Given the description of an element on the screen output the (x, y) to click on. 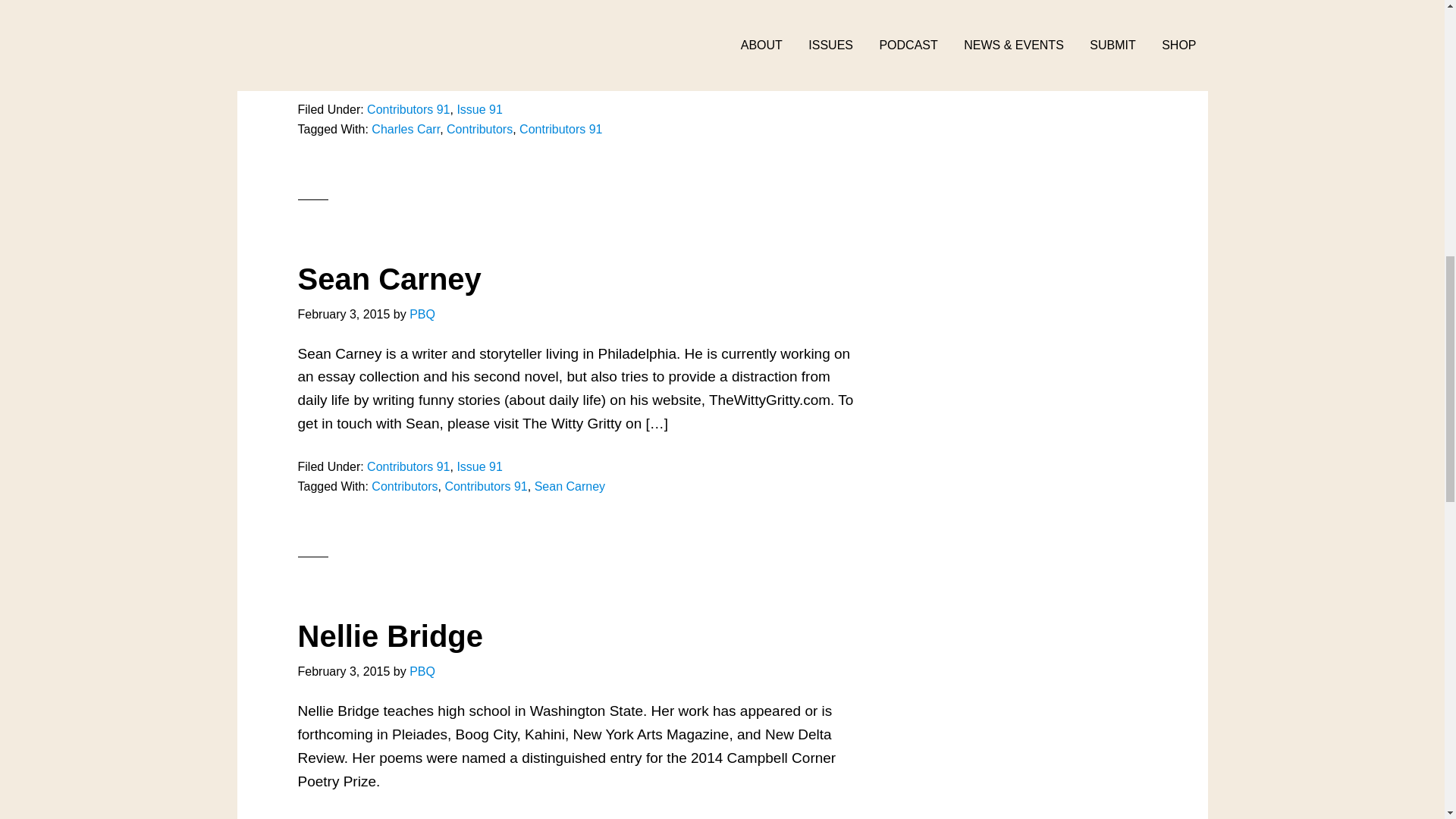
Contributors 91 (407, 109)
Issue 91 (479, 466)
Issue 91 (479, 109)
Charles Carr (405, 128)
Contributors (479, 128)
PBQ (422, 314)
Sean Carney (388, 278)
Contributors 91 (407, 466)
Contributors 91 (560, 128)
